Given the description of an element on the screen output the (x, y) to click on. 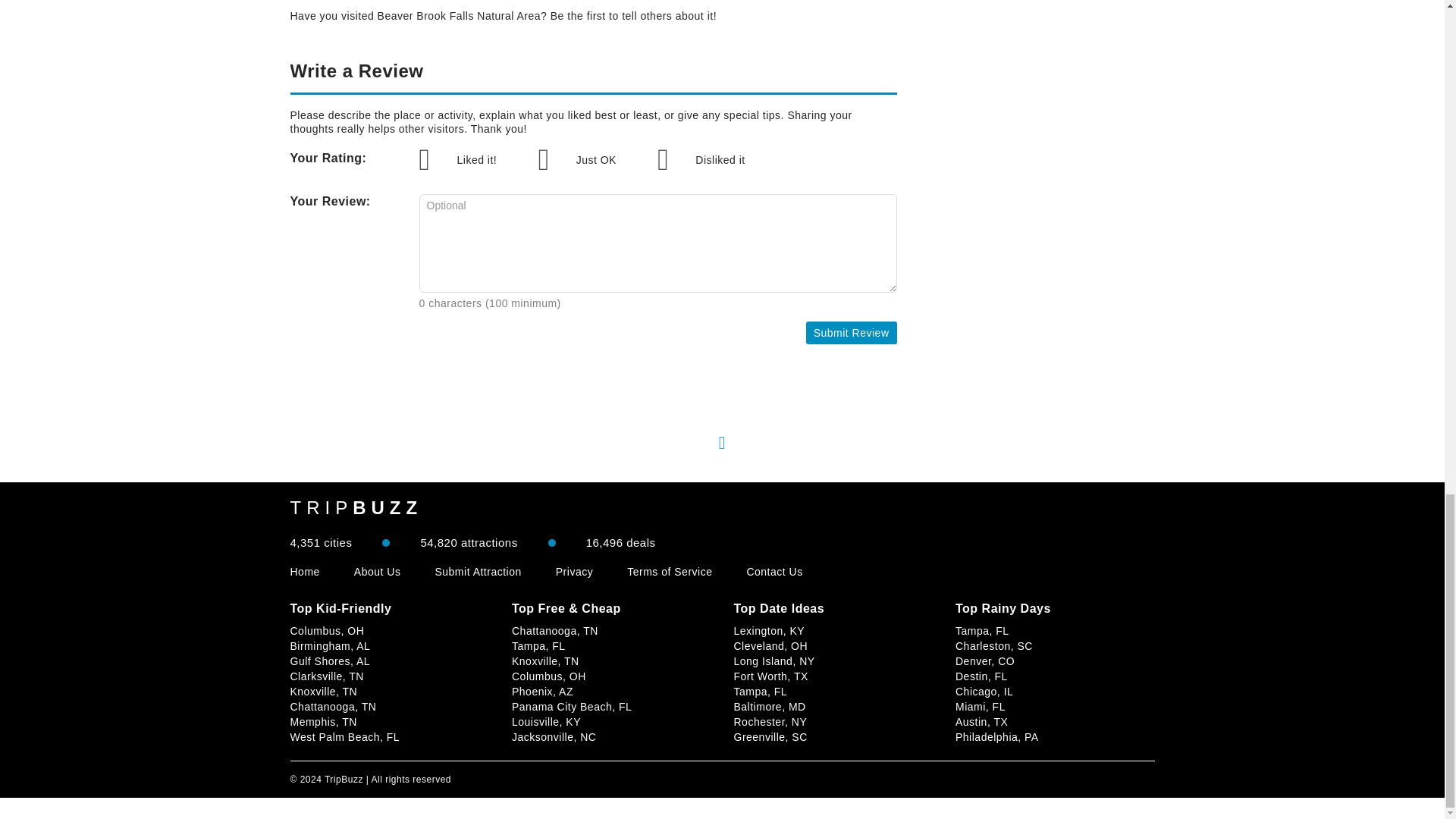
Gulf Shores, AL (329, 661)
About (377, 571)
Privacy (574, 571)
Columbus, OH (326, 630)
Home (303, 571)
Knoxville, TN (322, 691)
Birmingham, AL (329, 645)
Terms of Service (669, 571)
Chattanooga, TN (332, 706)
Privacy (574, 571)
